Given the description of an element on the screen output the (x, y) to click on. 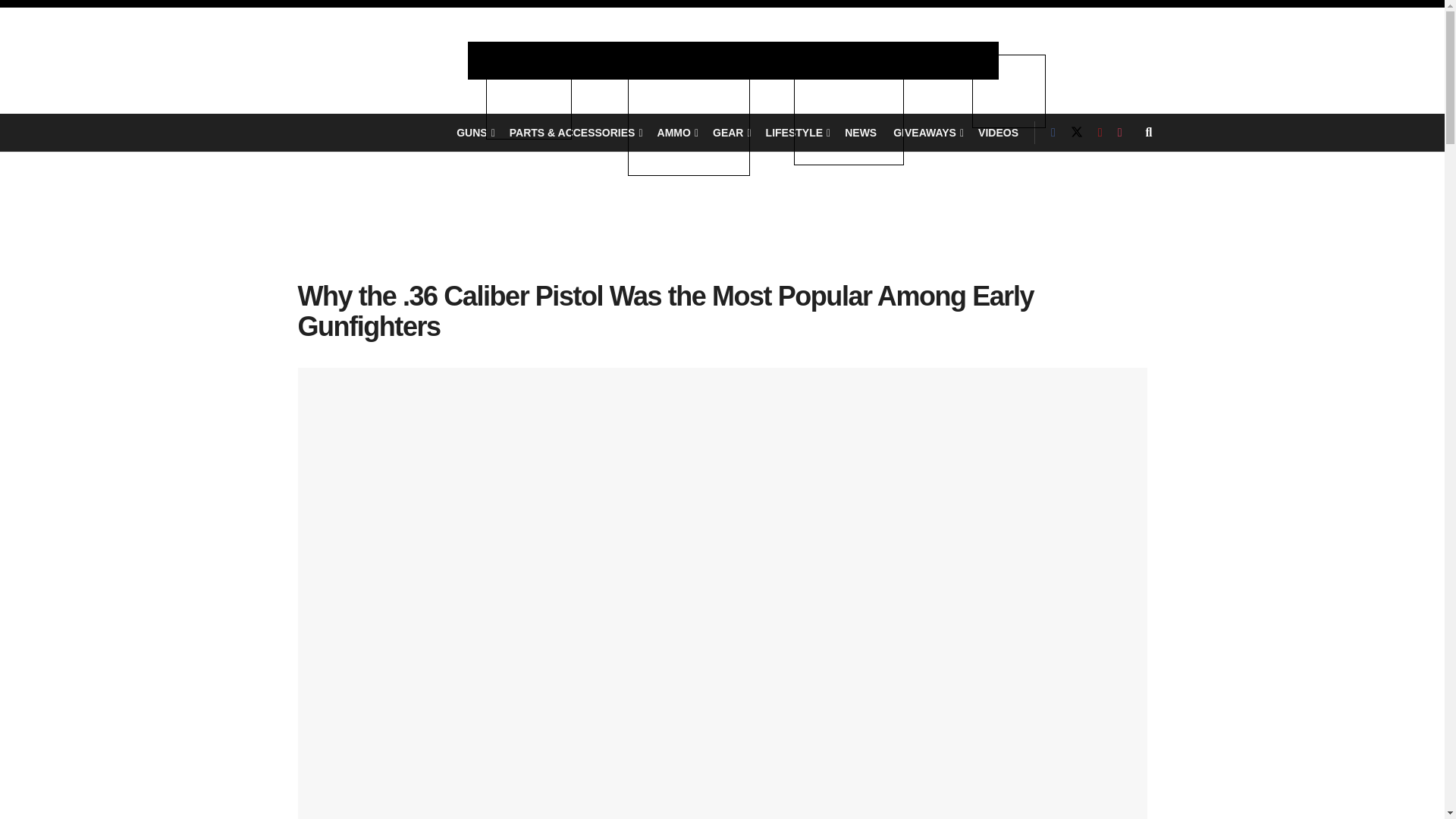
AMMO (676, 132)
3rd party ad content (722, 232)
GEAR (731, 132)
GUNS (475, 132)
